Given the description of an element on the screen output the (x, y) to click on. 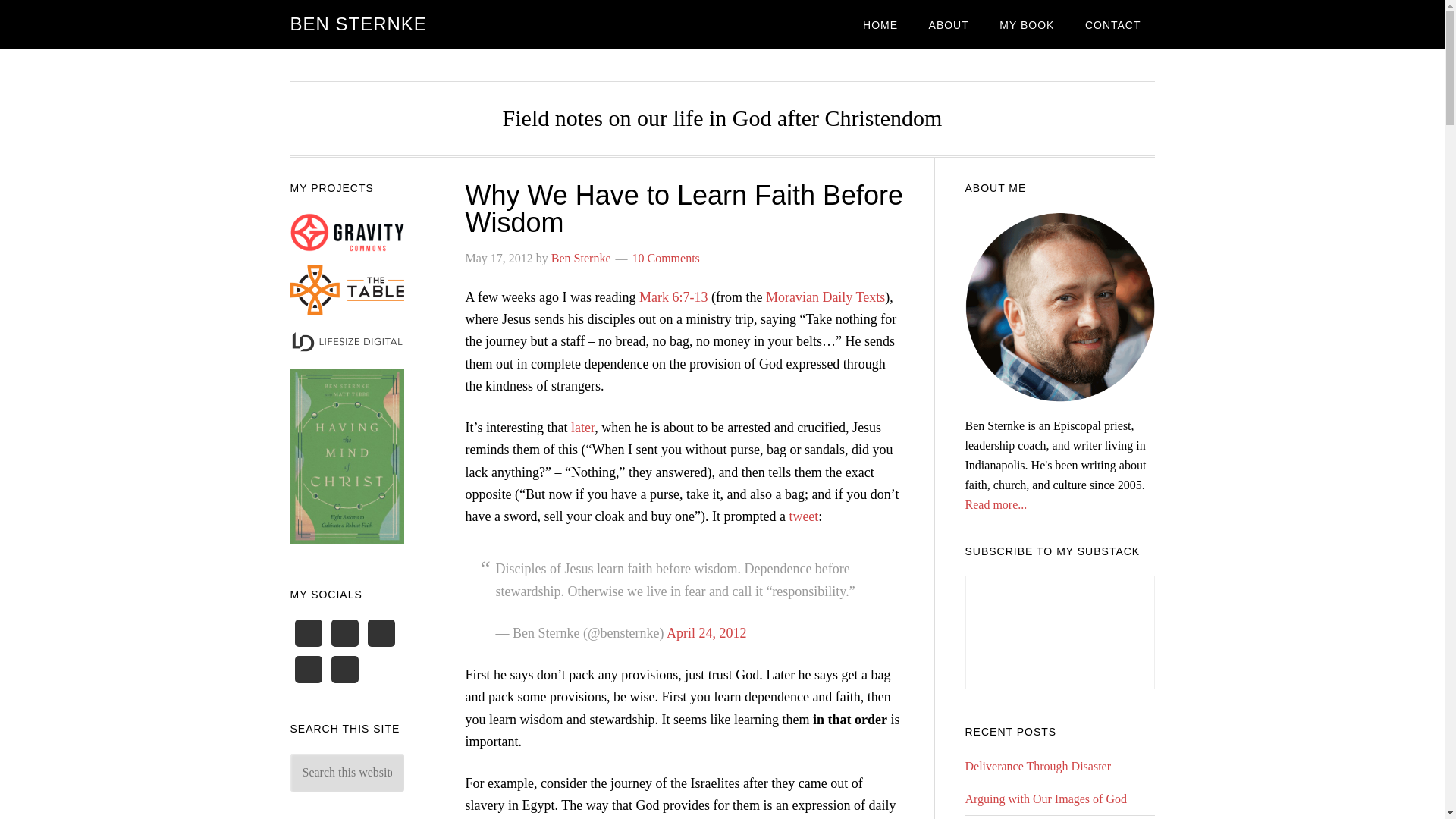
BEN STERNKE (357, 23)
Mark 6:7-13 (673, 296)
April 24, 2012 (706, 632)
tweet (803, 516)
HOME (879, 24)
CONTACT (1112, 24)
MY BOOK (1026, 24)
ABOUT (948, 24)
Moravian Daily Texts (825, 296)
10 Comments (664, 257)
later (582, 427)
Ben Sternke (581, 257)
